Given the description of an element on the screen output the (x, y) to click on. 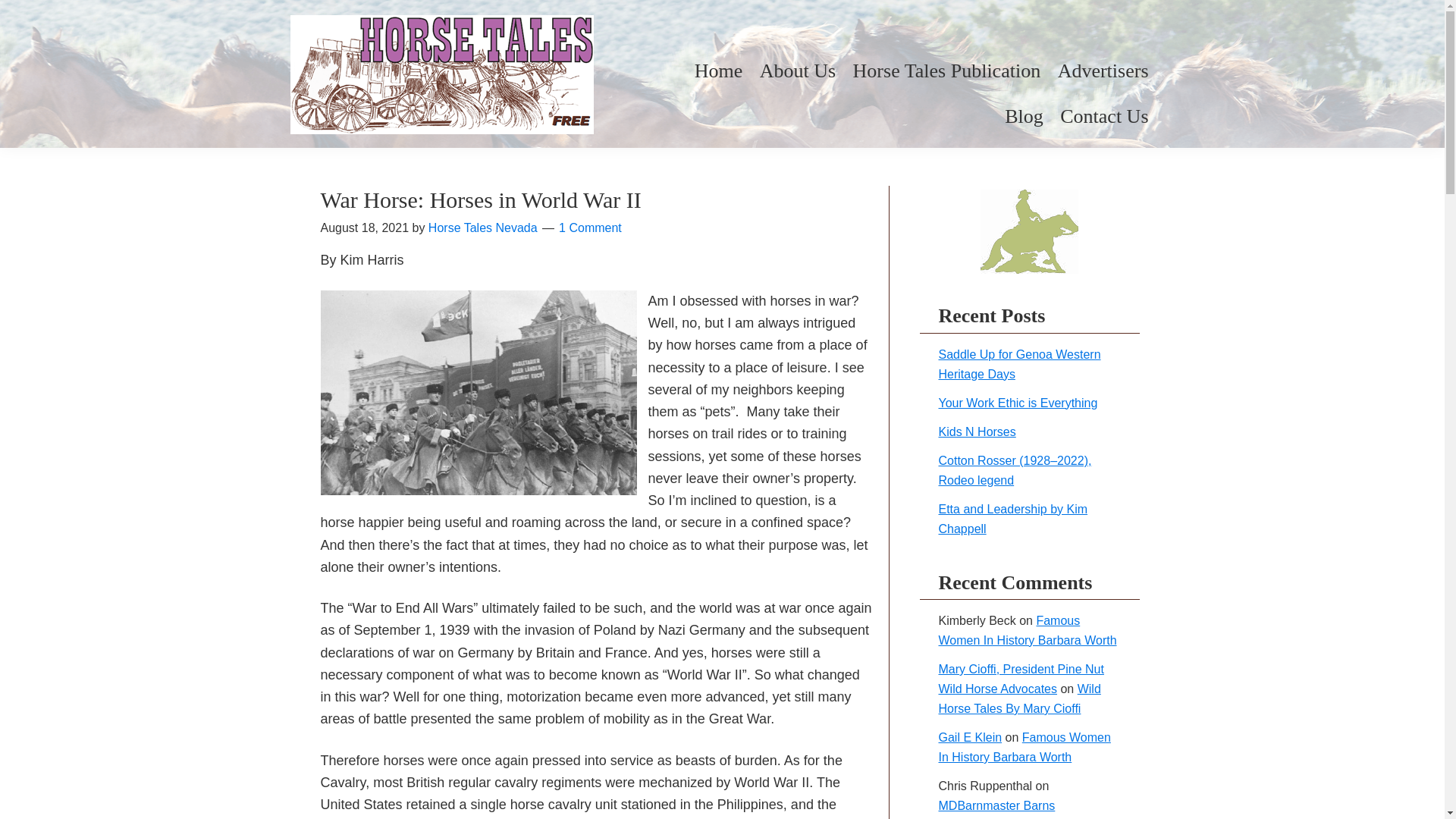
About Us (797, 71)
Home (718, 71)
Horse Tales Nevada (482, 227)
Horsetales Nevada (440, 81)
Wild Horse Tales By Mary Cioffi (1019, 698)
Your Work Ethic is Everything (1018, 401)
Advertisers (1102, 71)
Blog (1023, 116)
Saddle Up for Genoa Western Heritage Days (1019, 363)
Famous Women In History Barbara Worth (1027, 630)
Mary Cioffi, President Pine Nut Wild Horse Advocates (1021, 678)
Etta and Leadership by Kim Chappell (1013, 518)
Kids N Horses (977, 431)
Gail E Klein (971, 737)
